Given the description of an element on the screen output the (x, y) to click on. 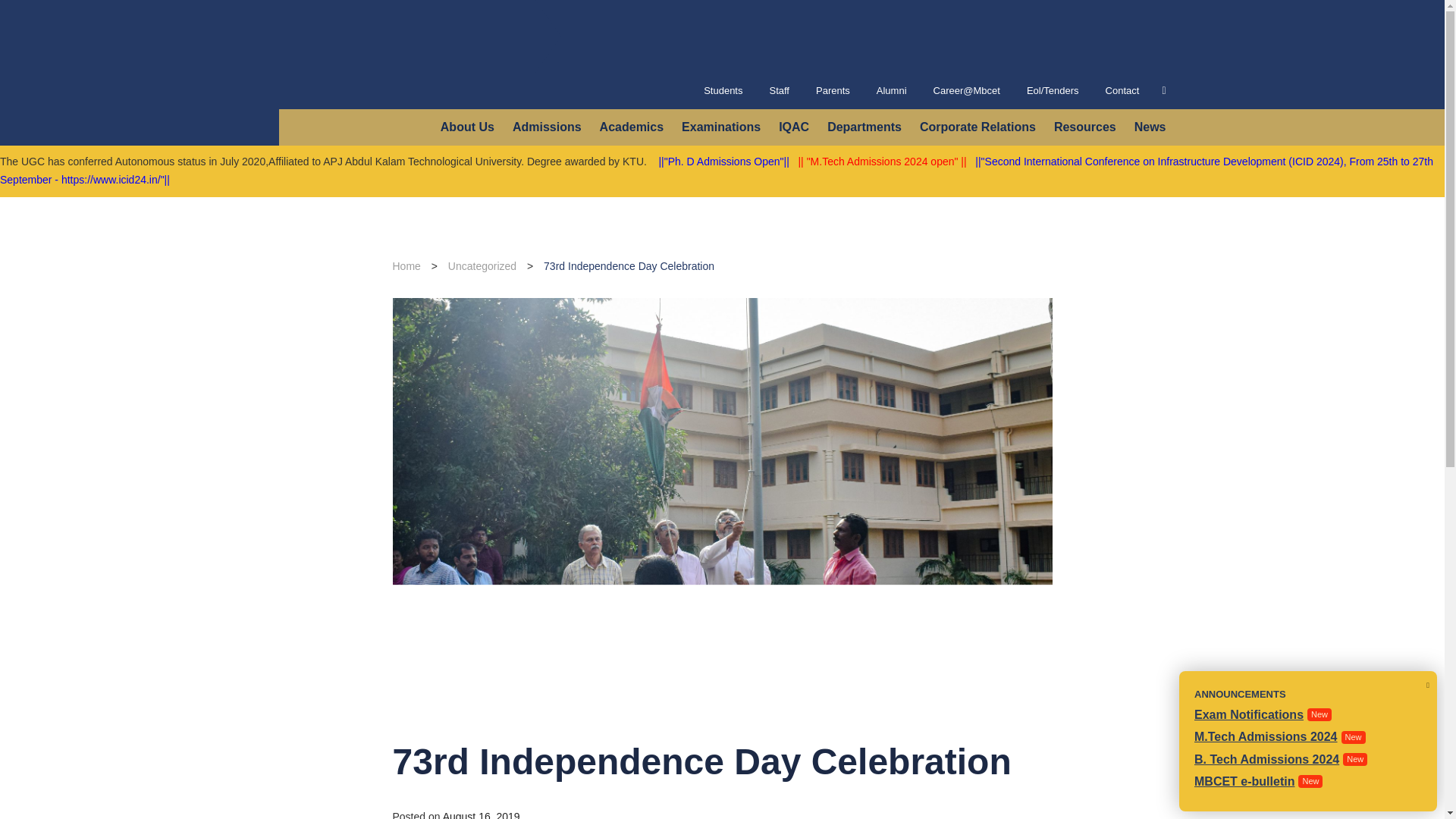
Students (722, 90)
Go to Mar Baselios College of Engineering And Technology. (406, 265)
Parents (832, 90)
Admissions (546, 126)
Contact (1122, 90)
Mar Baselios College of Engineering And Technology (399, 36)
Go to the Uncategorized category archives. (482, 265)
Examinations (720, 126)
Academics (631, 126)
About Us (468, 126)
